Given the description of an element on the screen output the (x, y) to click on. 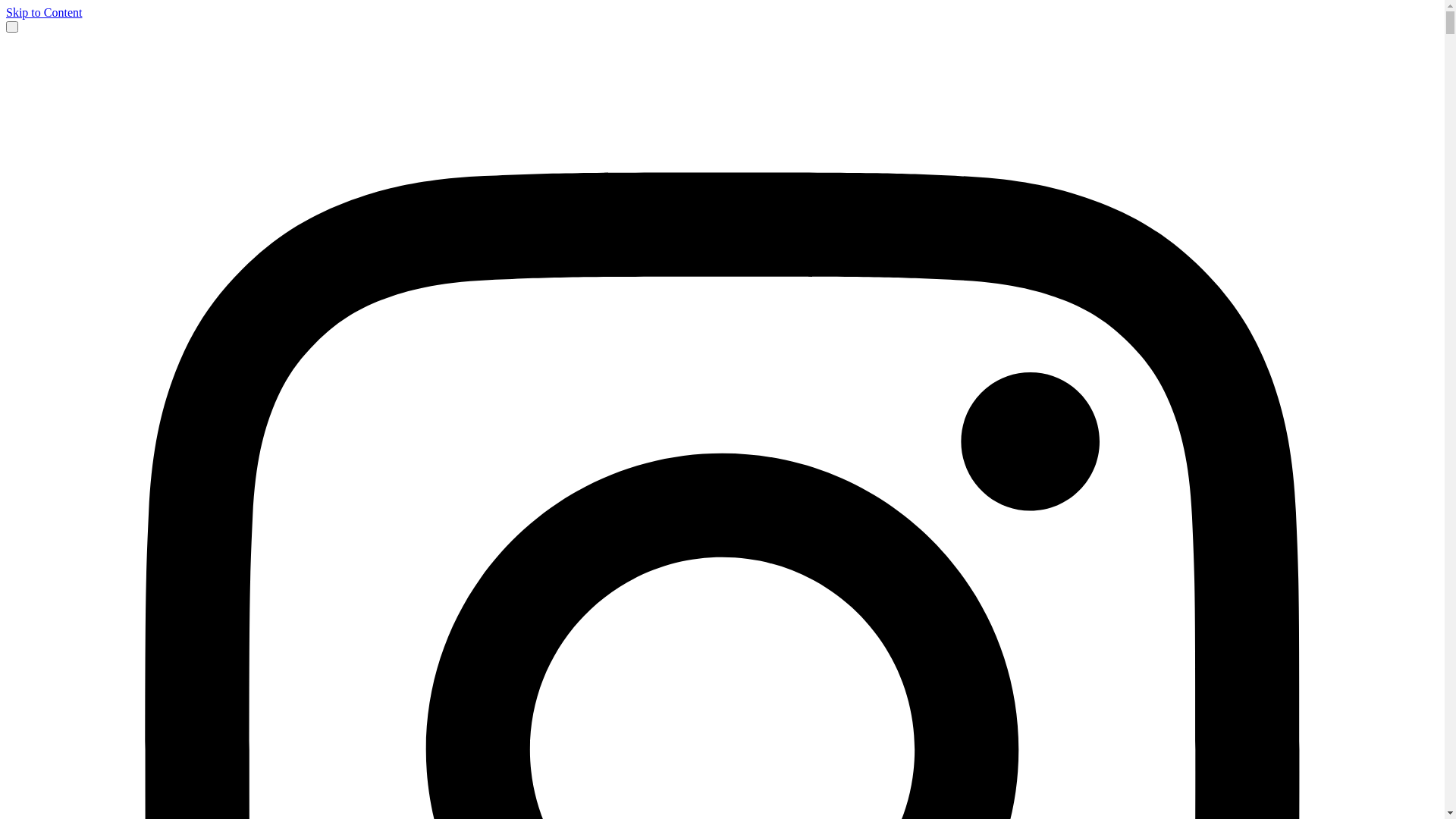
Skip to Content Element type: text (43, 12)
